Given the description of an element on the screen output the (x, y) to click on. 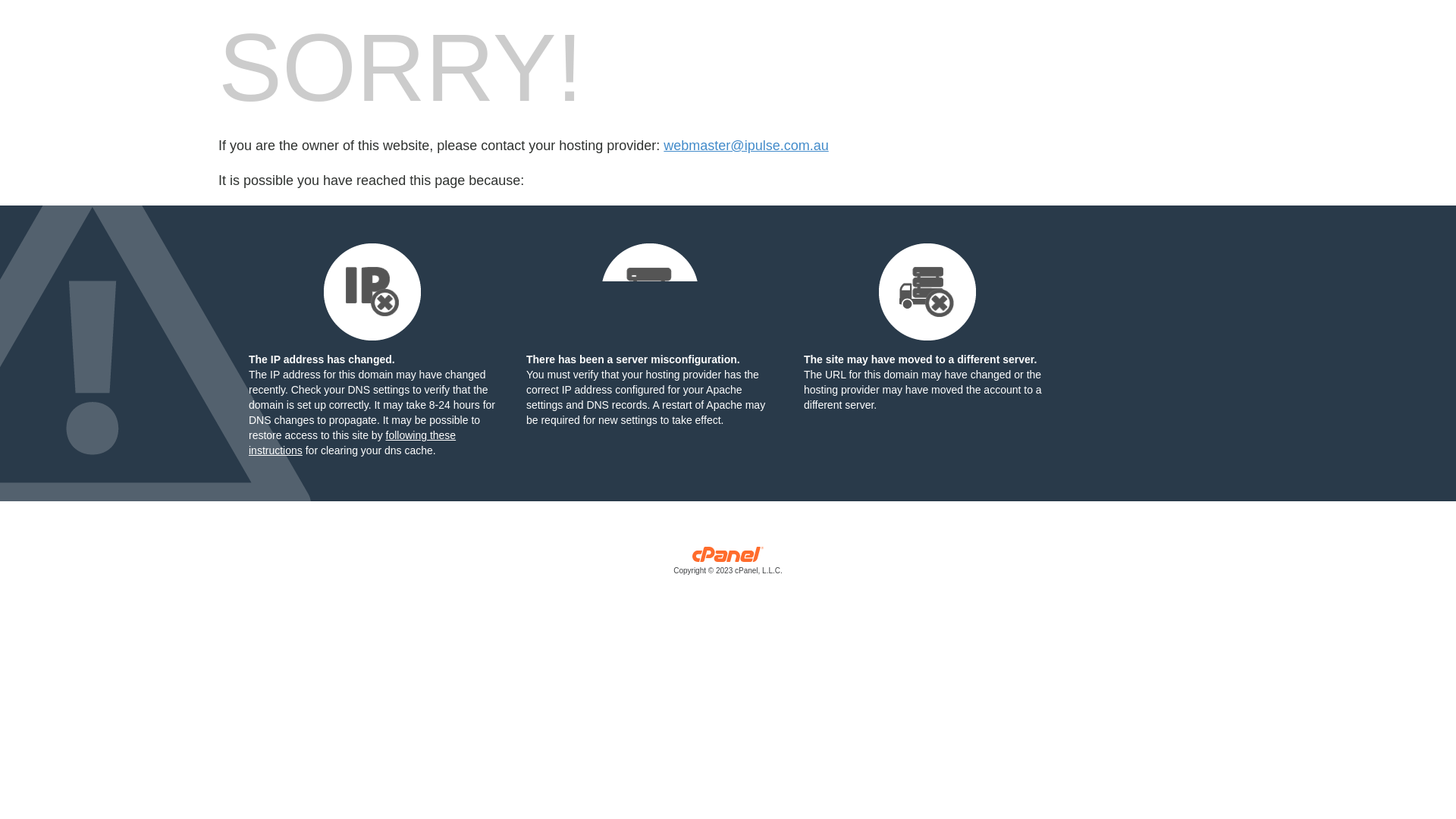
following these instructions Element type: text (351, 442)
webmaster@ipulse.com.au Element type: text (745, 145)
